Given the description of an element on the screen output the (x, y) to click on. 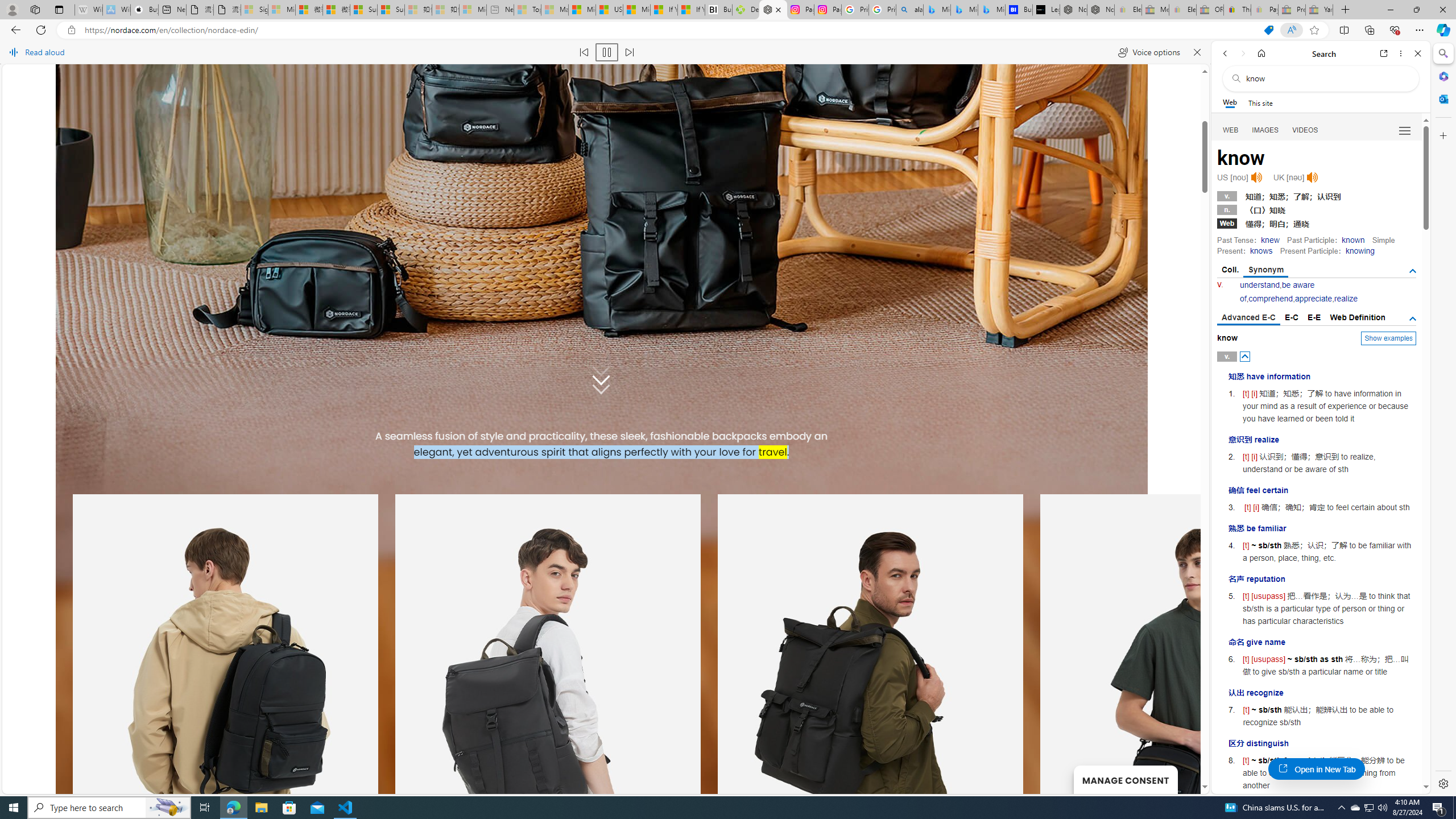
Threats and offensive language policy | eBay (1236, 9)
Synonym (1265, 270)
Light Gray (274, 436)
